Given the description of an element on the screen output the (x, y) to click on. 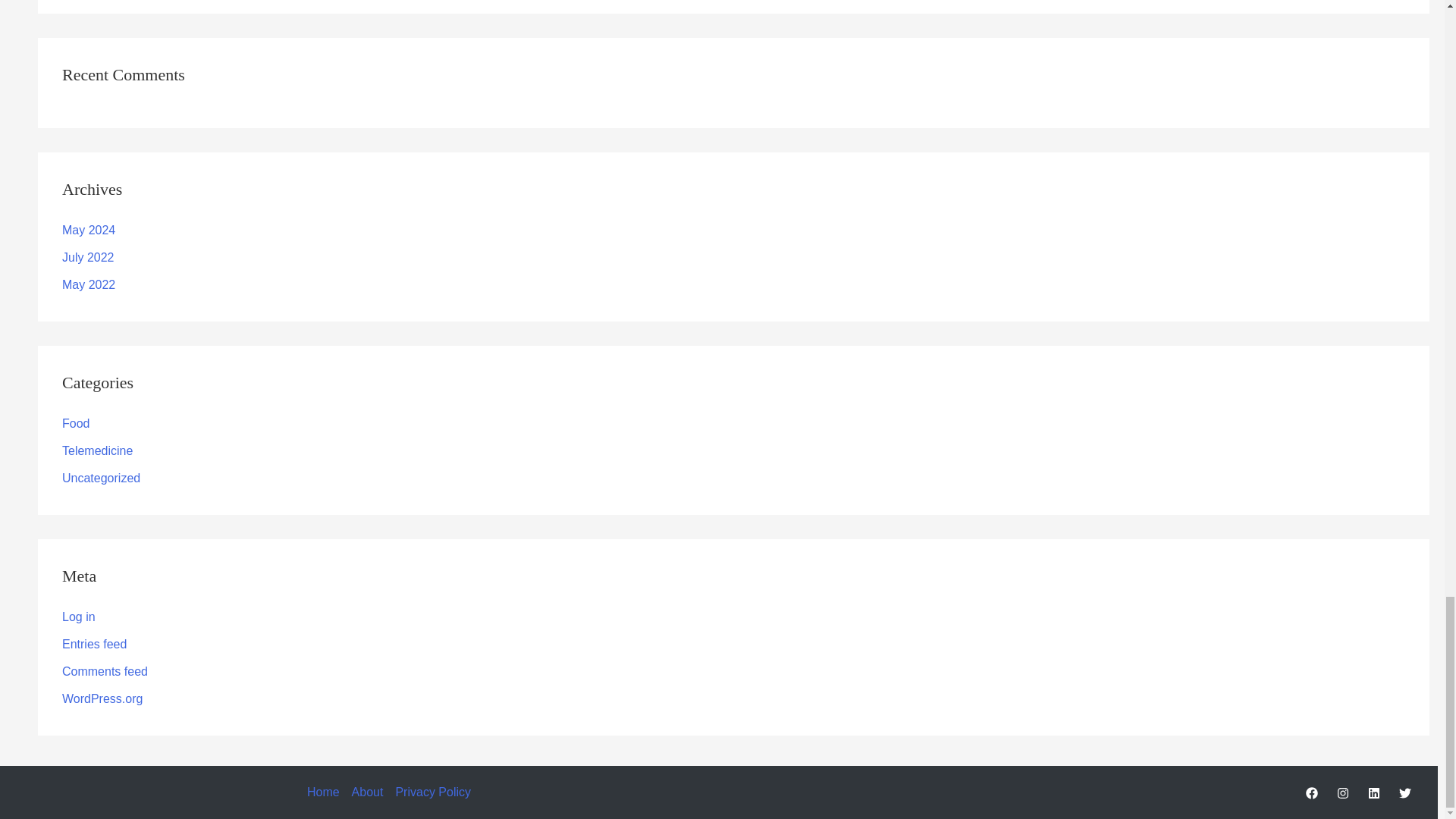
May 2022 (88, 284)
Home (326, 791)
Food (75, 422)
Entries feed (94, 644)
July 2022 (88, 256)
Uncategorized (100, 477)
Comments feed (105, 671)
Telemedicine (97, 450)
WordPress.org (102, 698)
May 2024 (88, 229)
